Given the description of an element on the screen output the (x, y) to click on. 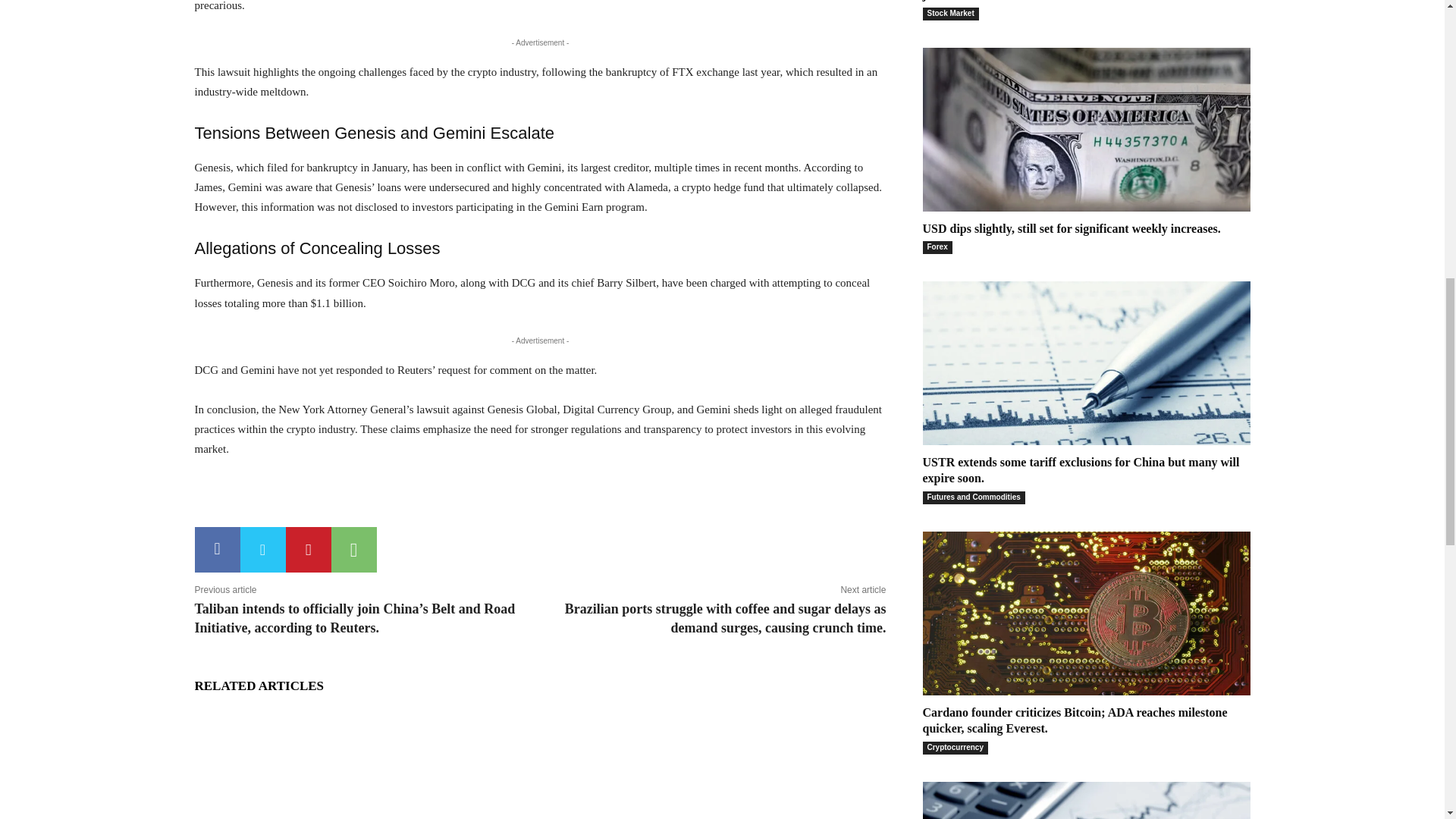
Twitter (262, 549)
Facebook (216, 549)
Pinterest (307, 549)
WhatsApp (352, 549)
